Given the description of an element on the screen output the (x, y) to click on. 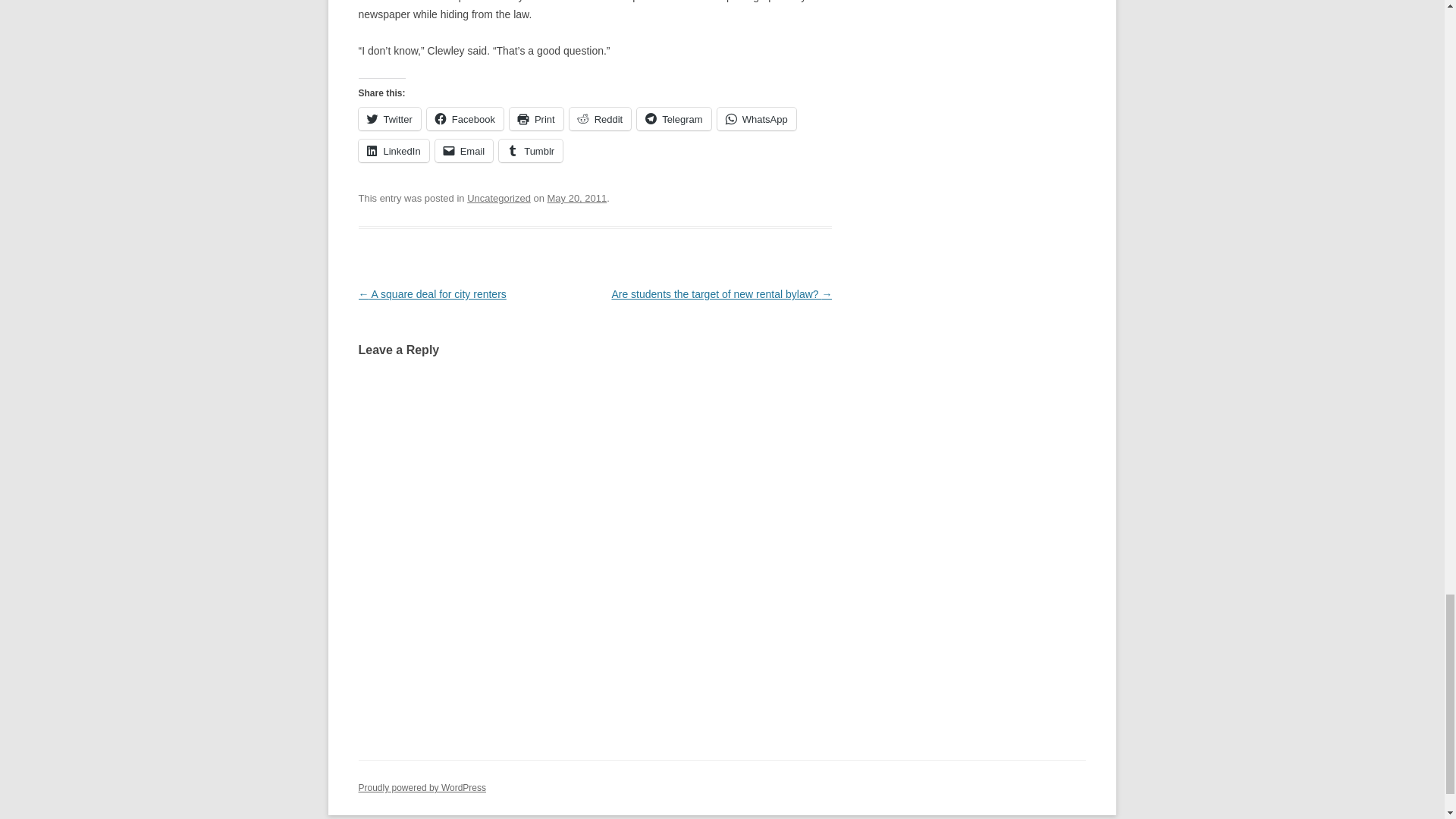
Click to share on WhatsApp (756, 118)
Facebook (464, 118)
Click to share on Tumblr (530, 150)
Click to share on Facebook (464, 118)
Click to share on Twitter (389, 118)
Click to share on Reddit (600, 118)
Click to share on LinkedIn (393, 150)
Twitter (389, 118)
2:20 pm (577, 197)
Print (536, 118)
Click to email a link to a friend (464, 150)
Click to share on Telegram (673, 118)
Click to print (536, 118)
